Given the description of an element on the screen output the (x, y) to click on. 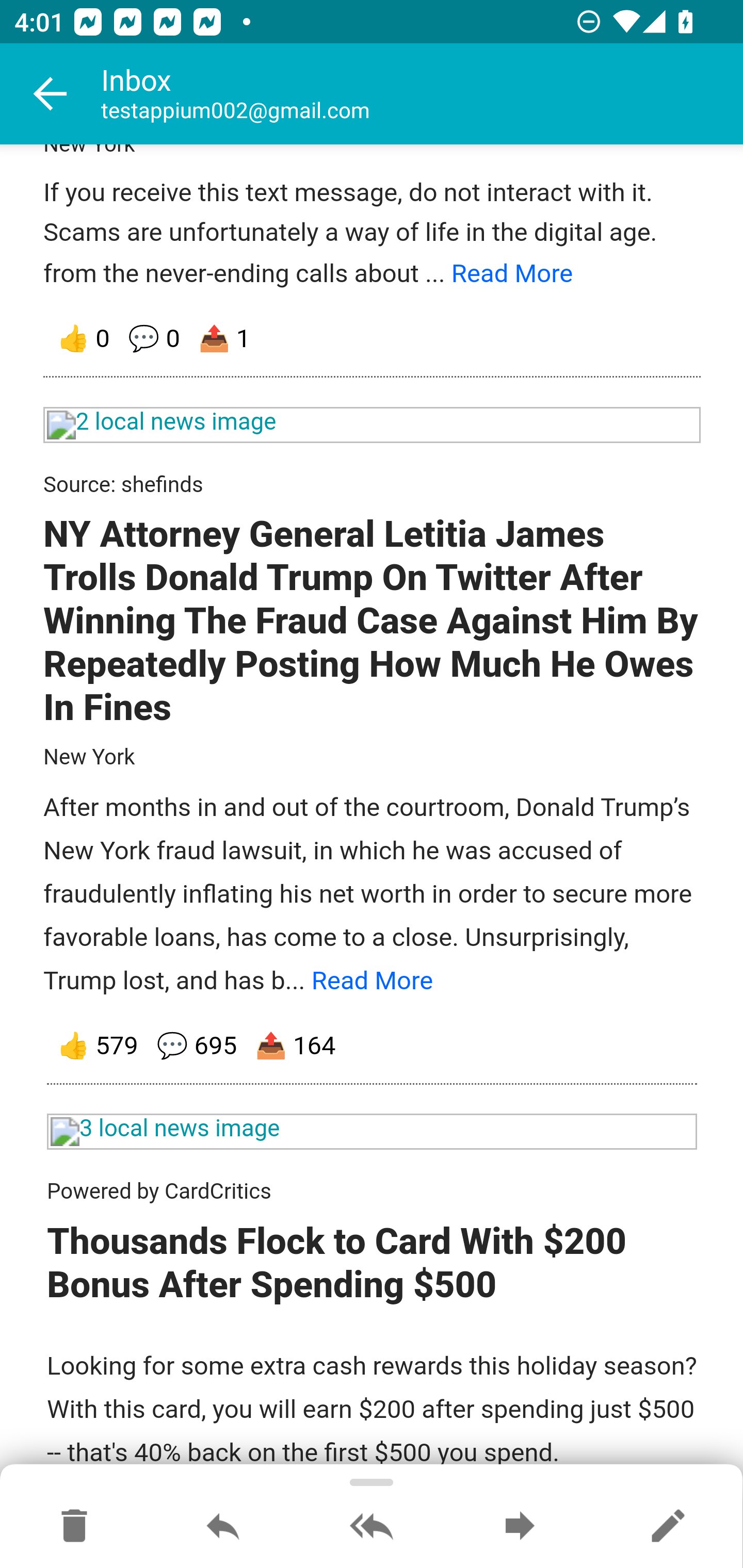
Navigate up (50, 93)
Inbox testappium002@gmail.com (422, 93)
👍 0   💬 0   📤 1 (372, 340)
2 local news image (372, 424)
👍 579   💬 695   📤 164 (372, 1046)
3 local news image (372, 1132)
Move to Deleted (74, 1527)
Reply (222, 1527)
Reply all (371, 1527)
Forward (519, 1527)
Reply as new (667, 1527)
